Given the description of an element on the screen output the (x, y) to click on. 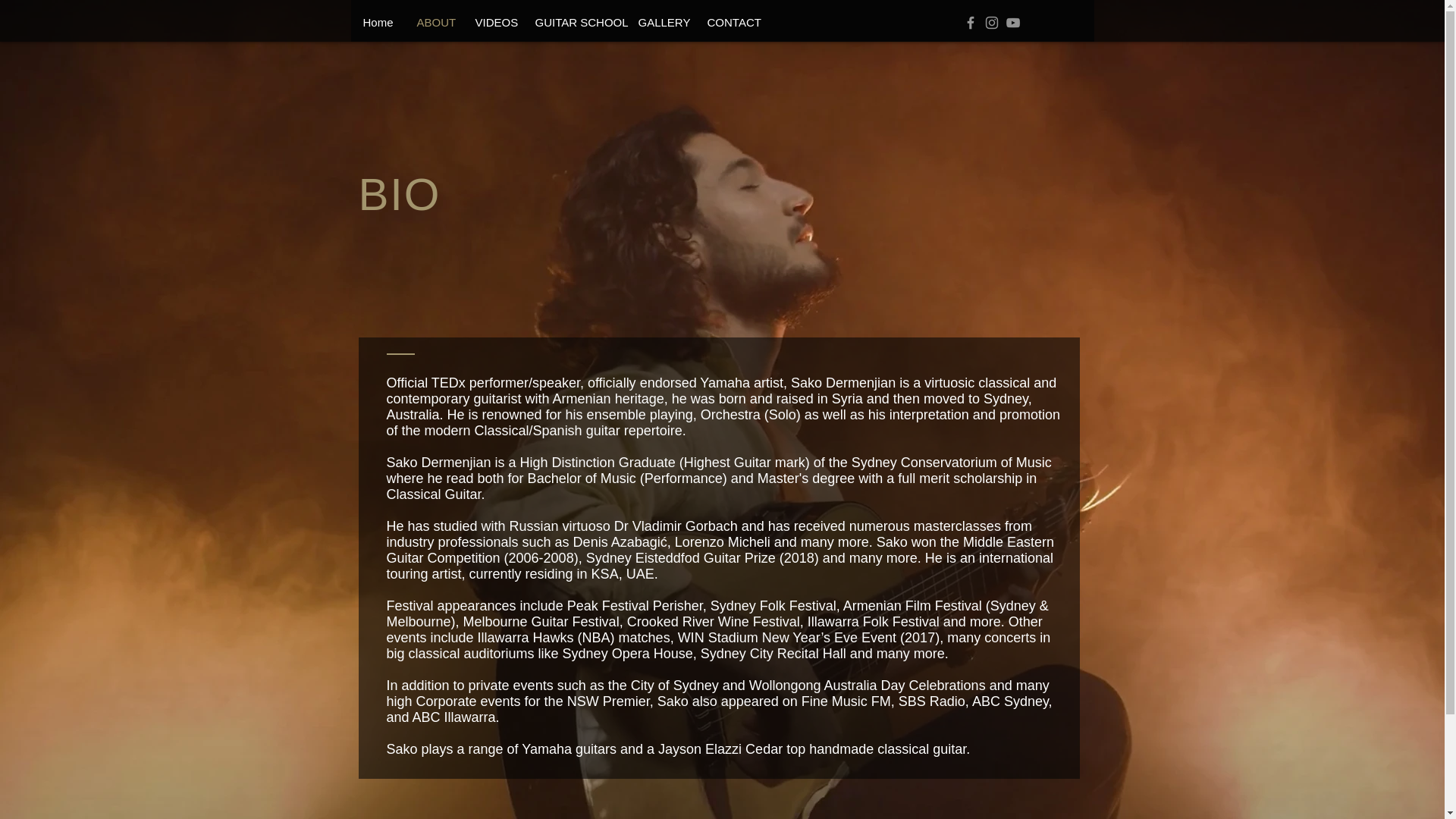
Home (377, 22)
GALLERY (660, 22)
ABOUT (433, 22)
VIDEOS (492, 22)
CONTACT (728, 22)
GUITAR SCHOOL (574, 22)
